Given the description of an element on the screen output the (x, y) to click on. 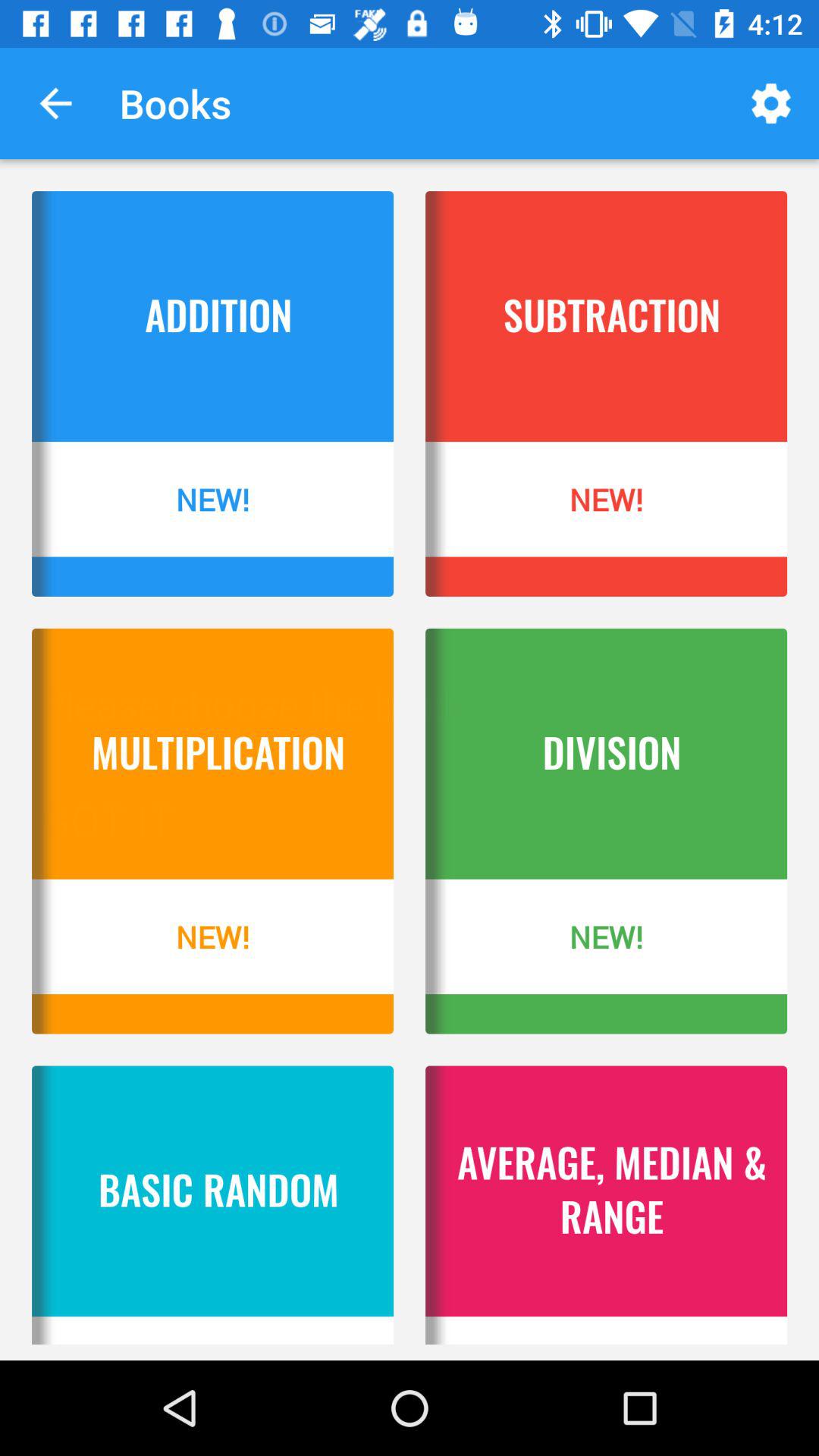
launch item above subtraction icon (771, 103)
